Given the description of an element on the screen output the (x, y) to click on. 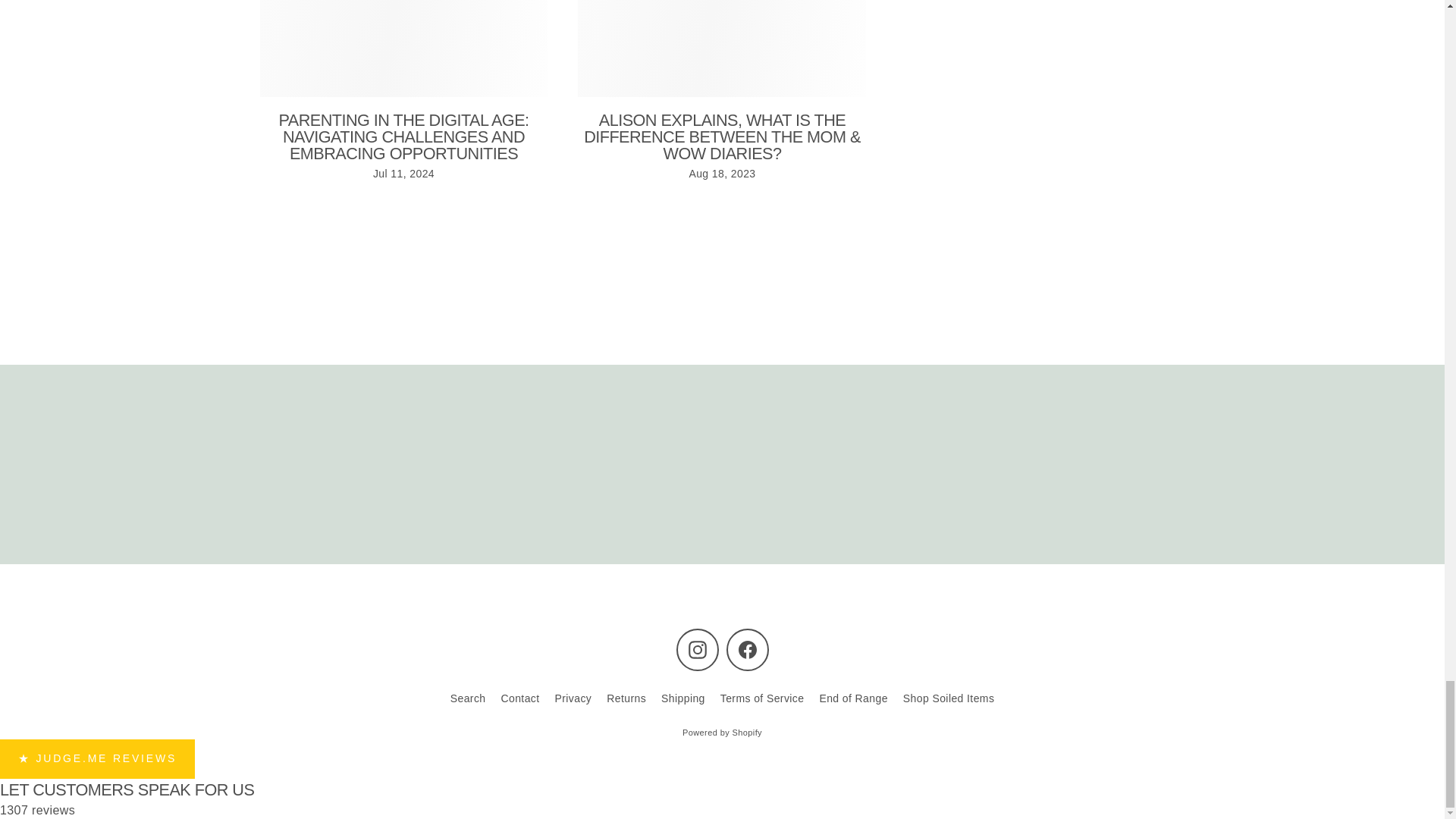
instagram (697, 649)
The Papery on Facebook (747, 649)
The Papery on Instagram (698, 649)
